Given the description of an element on the screen output the (x, y) to click on. 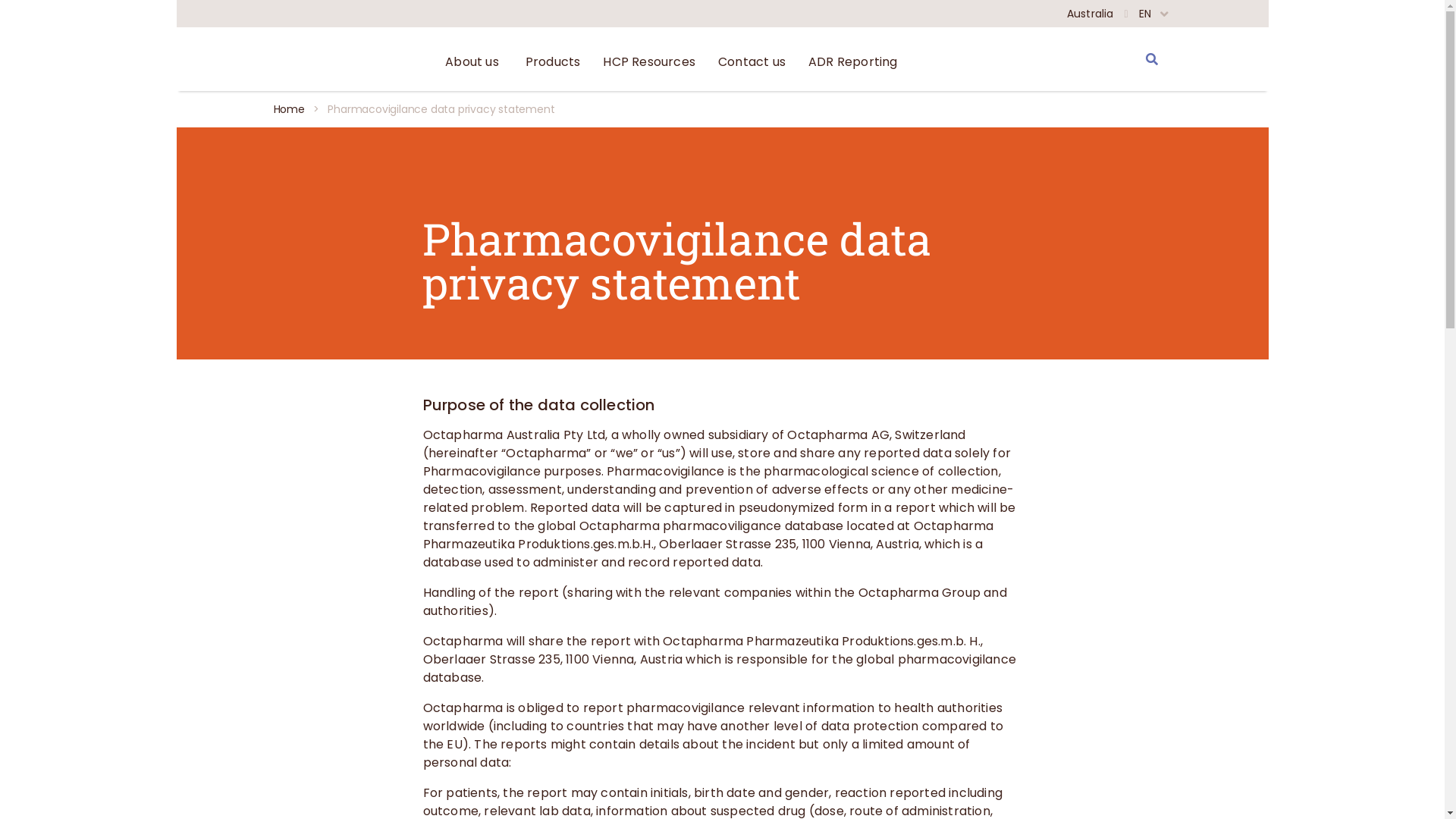
ADR Reporting Element type: text (852, 61)
Home Element type: text (288, 108)
Australia Element type: text (1089, 13)
Products Element type: text (552, 61)
About us Element type: text (473, 61)
HCP Resources Element type: text (648, 61)
EN Element type: text (1145, 13)
Contact us Element type: text (751, 61)
  Element type: text (1156, 58)
